Given the description of an element on the screen output the (x, y) to click on. 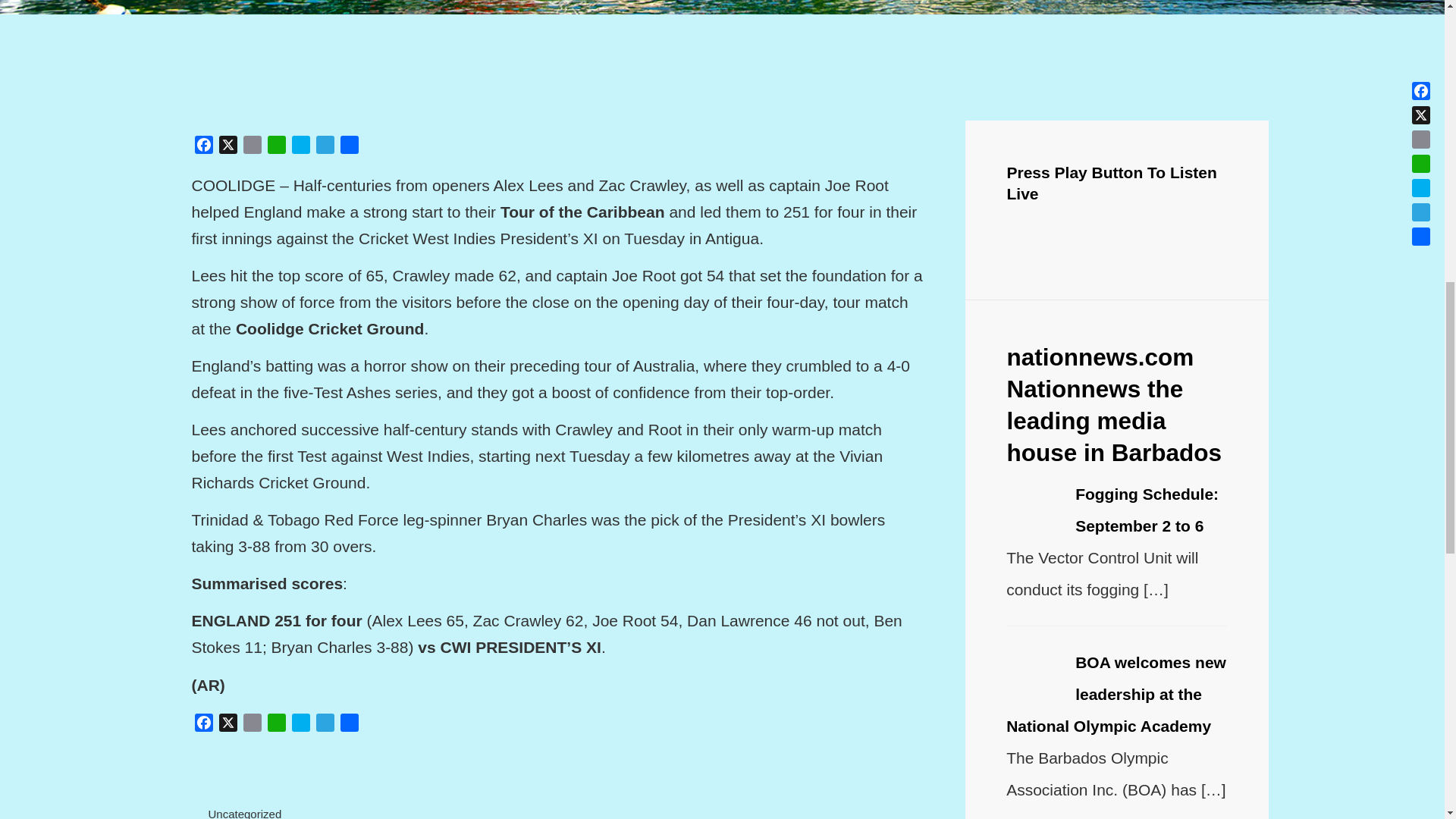
Telegram (324, 725)
WhatsApp (275, 146)
Facebook (202, 725)
Email (251, 146)
Skype (300, 146)
Telegram (324, 725)
Email (251, 146)
Telegram (324, 146)
Facebook (202, 146)
X (227, 146)
